Given the description of an element on the screen output the (x, y) to click on. 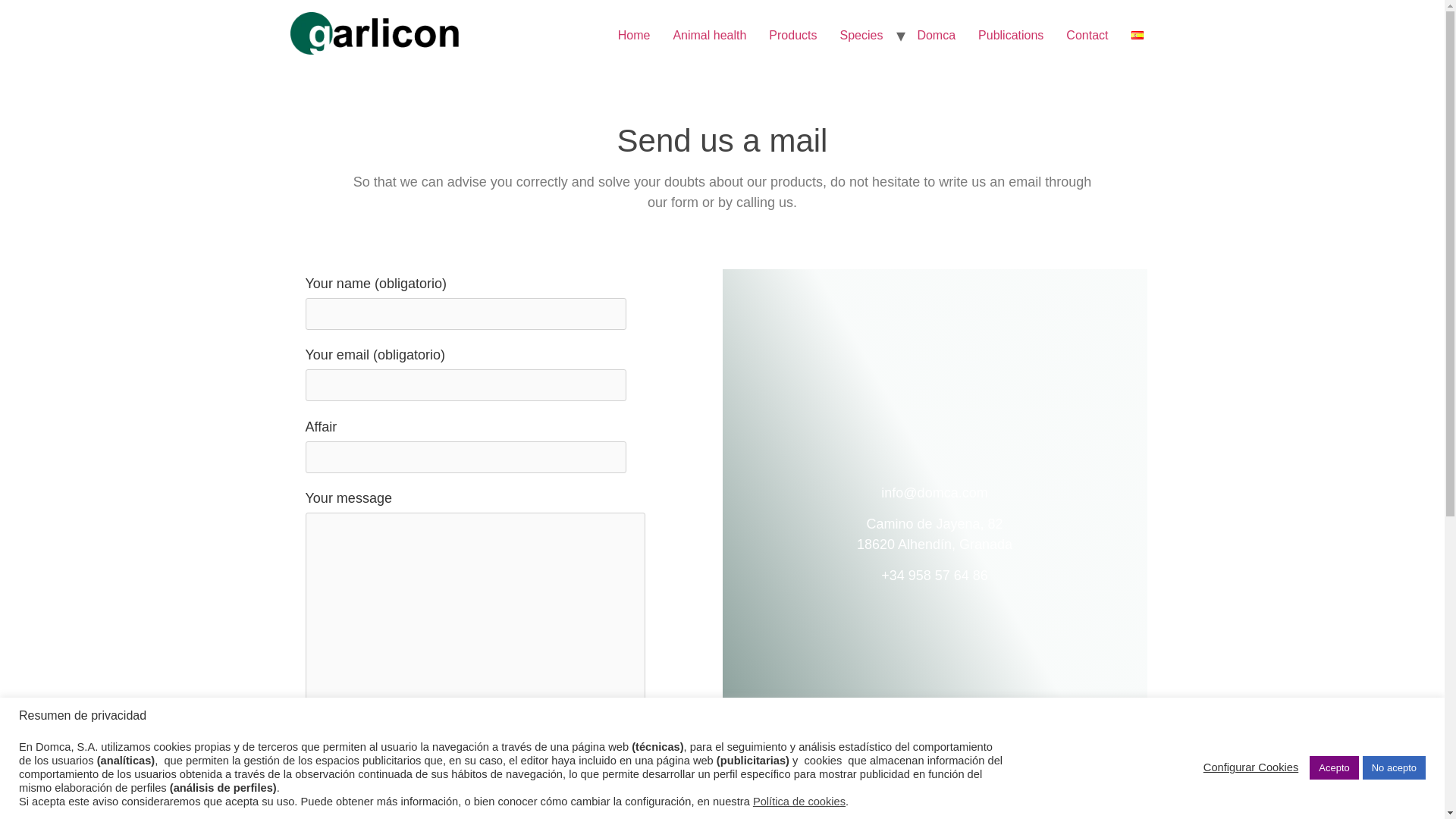
Animal health (709, 35)
the privacy policy. (515, 739)
Contact (1086, 35)
Products (792, 35)
Publications (1010, 35)
Send (334, 776)
Home (634, 35)
Domca (935, 35)
Configurar Cookies (1251, 766)
1 (309, 737)
Send (334, 776)
Species (860, 35)
